Given the description of an element on the screen output the (x, y) to click on. 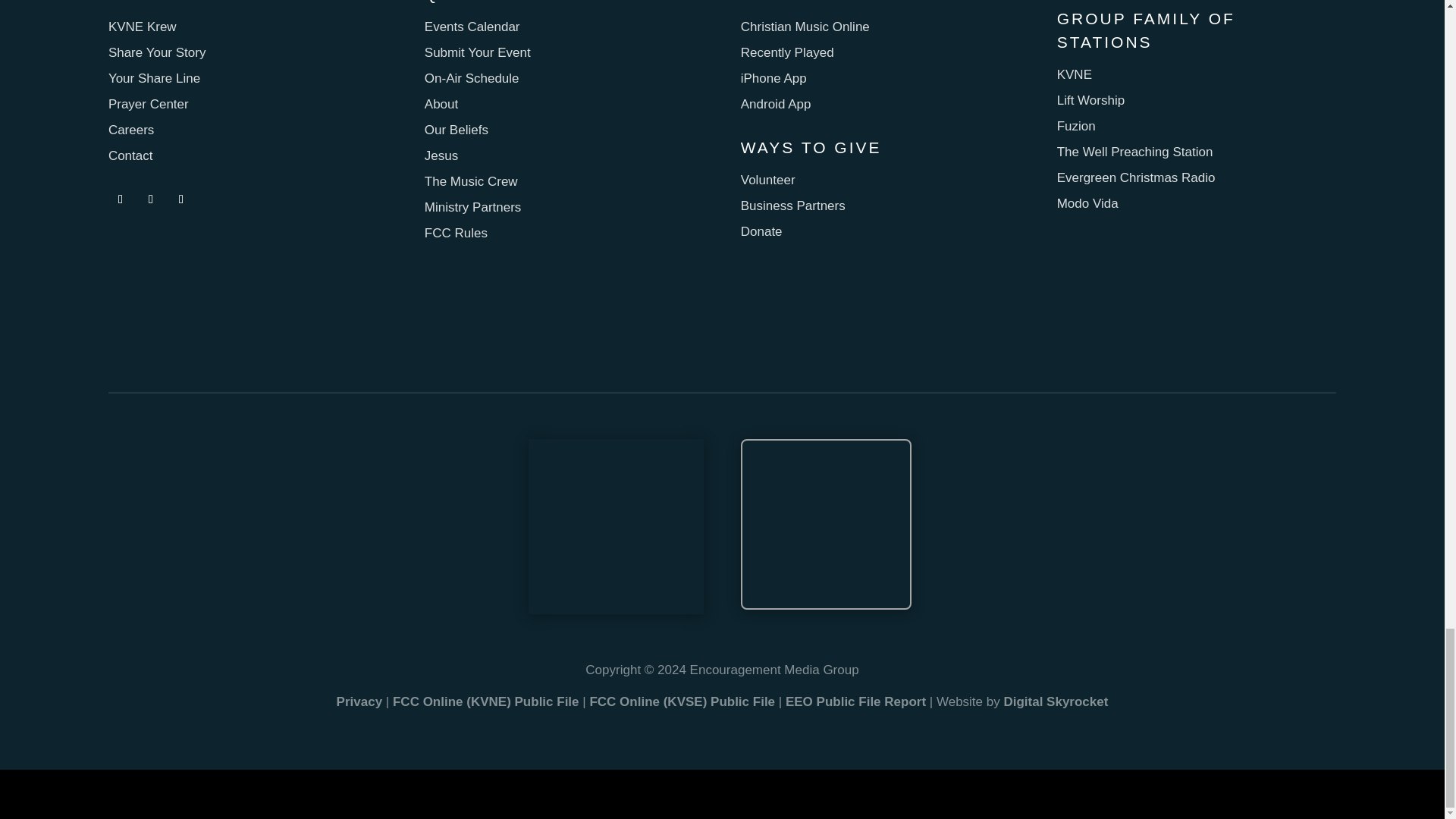
Follow on Instagram (150, 199)
Follow on Facebook (119, 199)
Follow on Vimeo (180, 199)
